Given the description of an element on the screen output the (x, y) to click on. 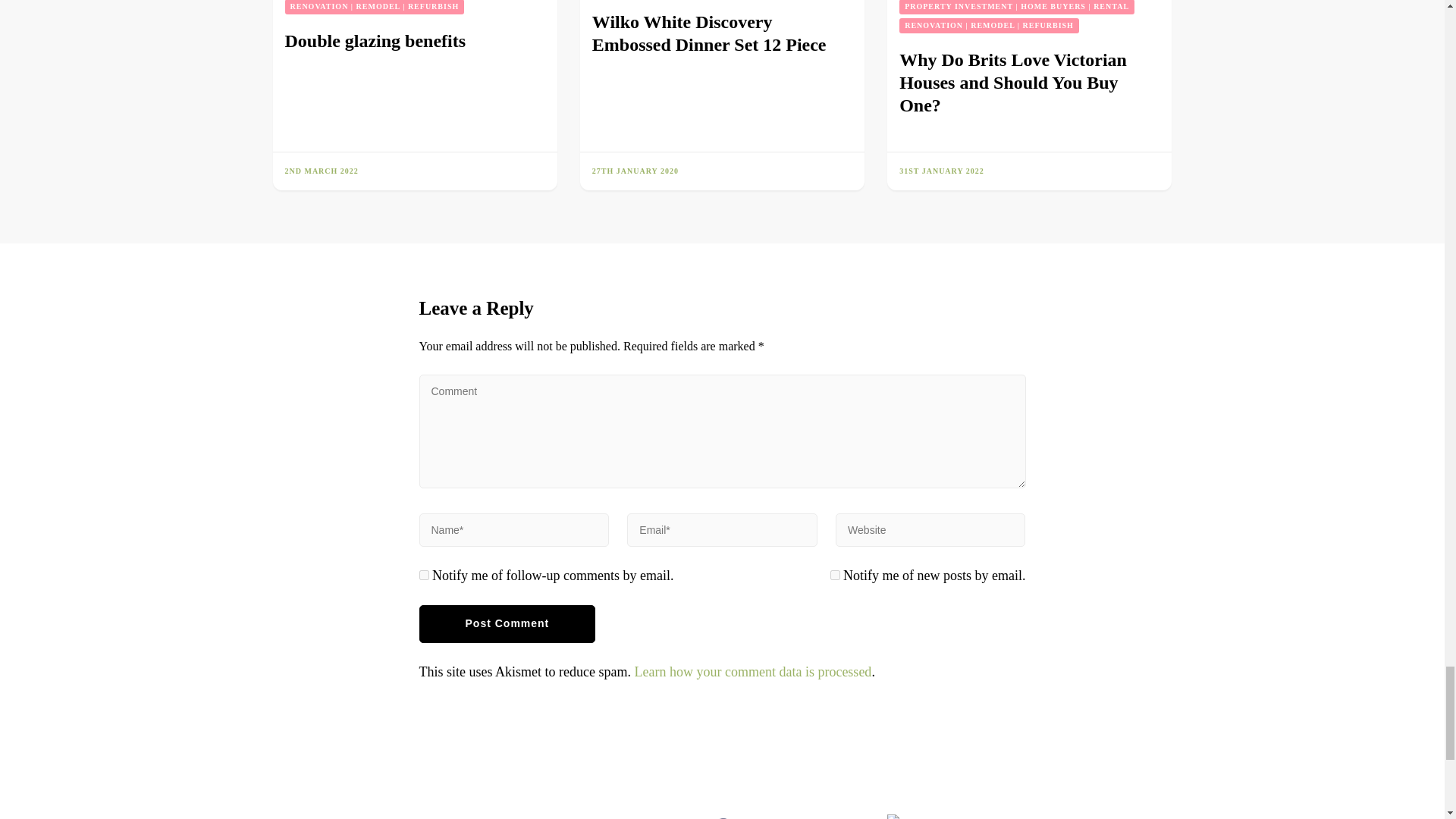
subscribe (834, 574)
subscribe (423, 574)
Post Comment (507, 623)
